Given the description of an element on the screen output the (x, y) to click on. 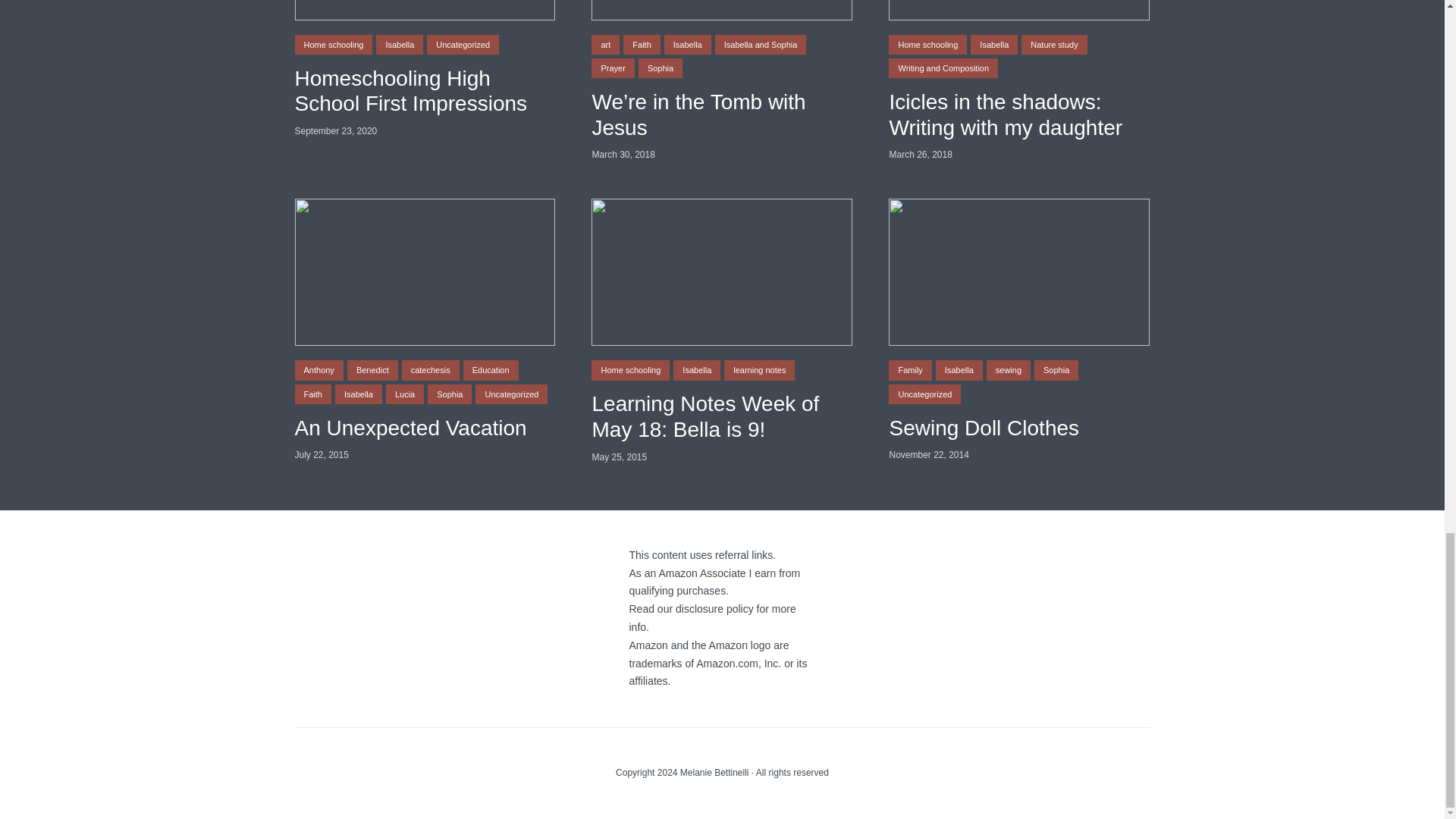
Home schooling (333, 44)
Faith (641, 44)
Isabella (687, 44)
Uncategorized (462, 44)
Homeschooling High School First Impressions (424, 91)
Isabella (399, 44)
Prayer (612, 67)
Isabella and Sophia (760, 44)
art (605, 44)
